Given the description of an element on the screen output the (x, y) to click on. 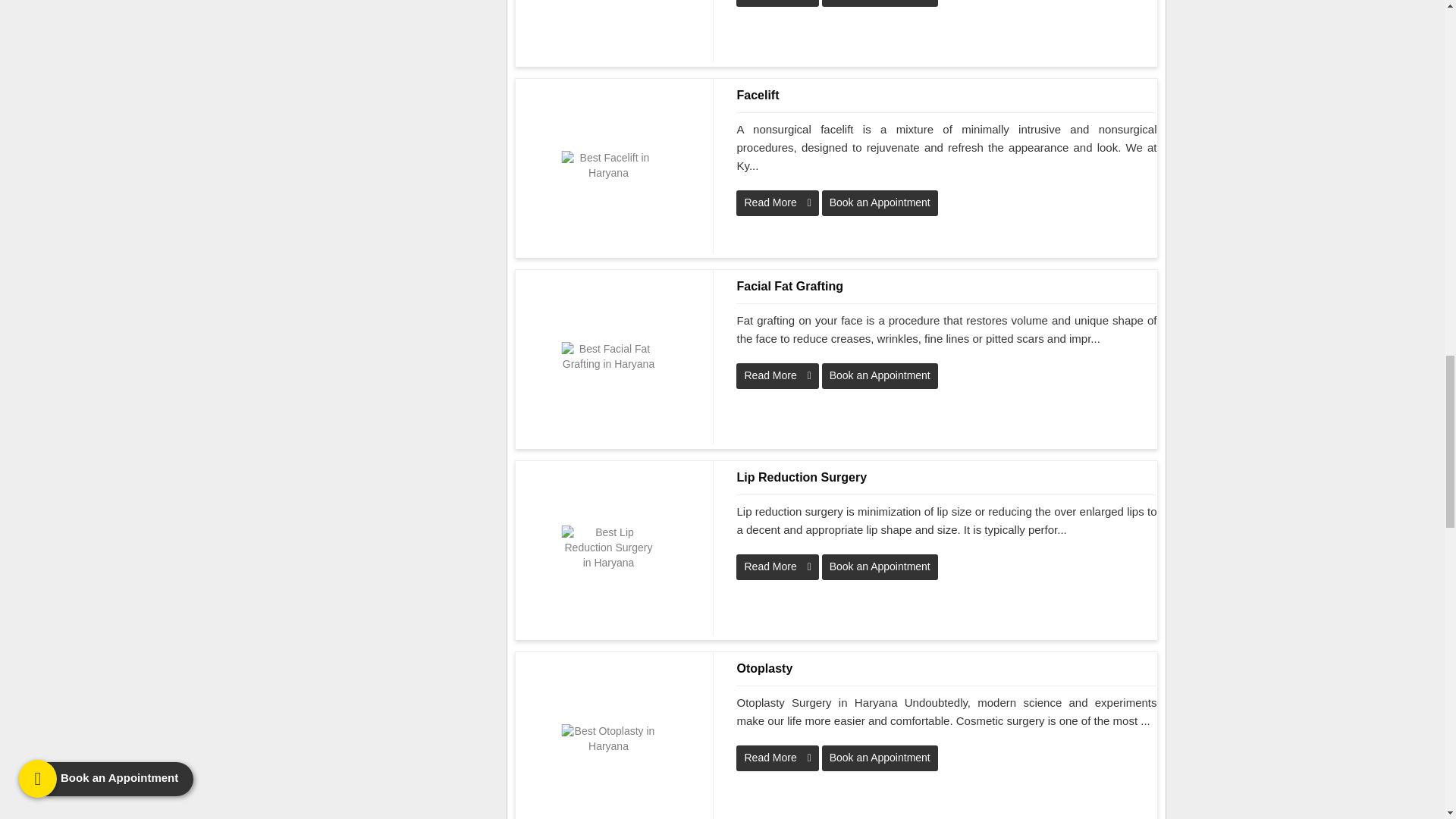
Otoplasty (946, 669)
Book an Appointment (879, 758)
Book an Appointment (879, 376)
Lip Reduction Surgery (946, 477)
Book an Appointment (879, 3)
Read More (777, 758)
Facial Fat Grafting (946, 286)
Read More (777, 566)
Read More (777, 203)
Facelift (946, 95)
Read More (777, 3)
Read More (777, 376)
Book an Appointment (879, 566)
Book an Appointment (879, 203)
